Given the description of an element on the screen output the (x, y) to click on. 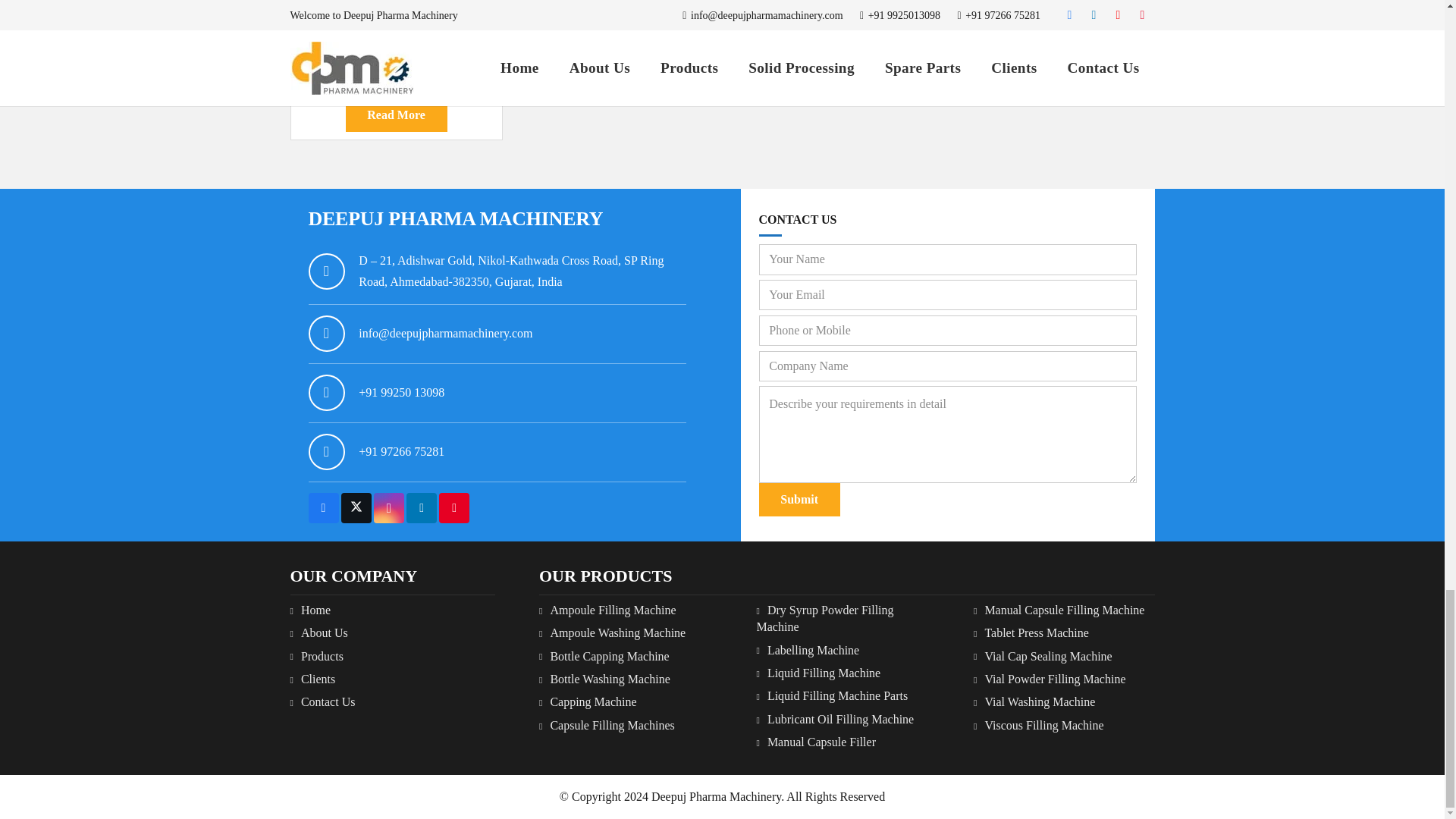
Instagram (389, 508)
Submit (799, 499)
Facebook (322, 508)
Pinterest (453, 508)
Twitter (355, 508)
LinkedIn (421, 508)
